Given the description of an element on the screen output the (x, y) to click on. 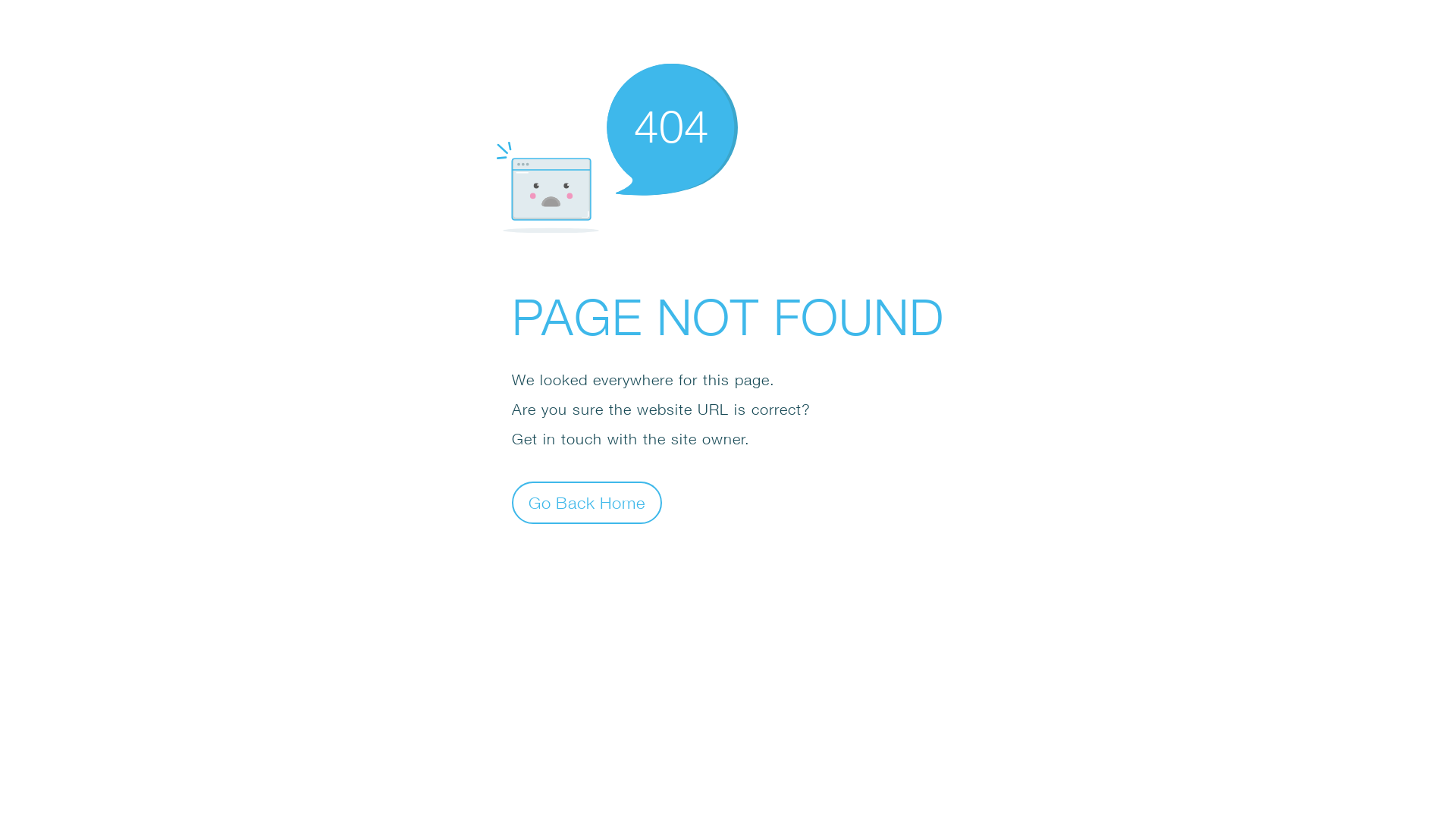
Go Back Home Element type: text (586, 502)
